Given the description of an element on the screen output the (x, y) to click on. 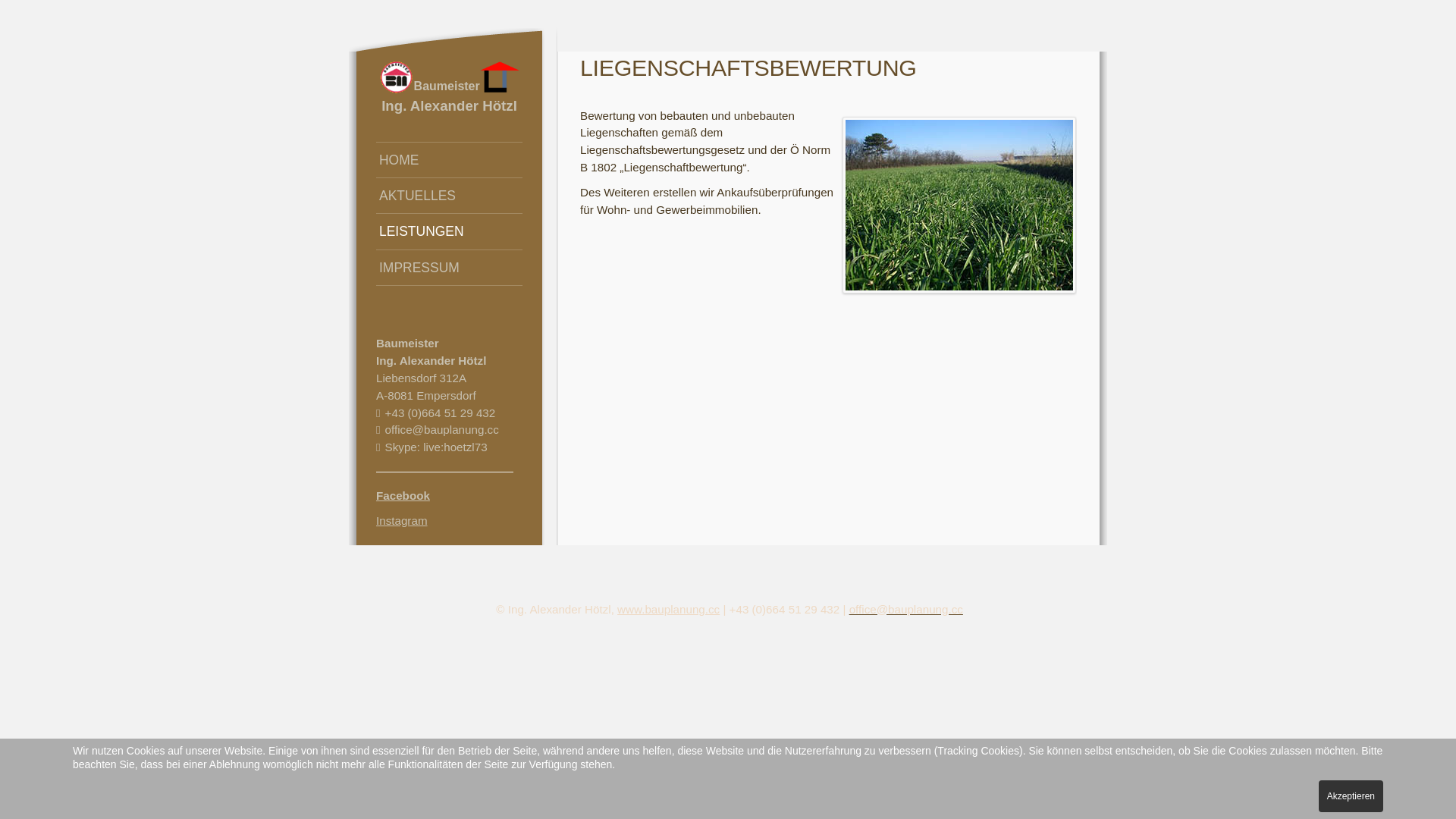
Instagram Element type: text (401, 520)
Akzeptieren Element type: text (1350, 796)
Facebook Element type: text (402, 495)
LEISTUNGEN Element type: text (449, 230)
HOME Element type: text (449, 159)
office@bauplanung.cc Element type: text (906, 608)
IMPRESSUM Element type: text (449, 267)
office@bauplanung.cc Element type: text (441, 429)
www.bauplanung.cc Element type: text (668, 608)
AKTUELLES Element type: text (449, 195)
